Given the description of an element on the screen output the (x, y) to click on. 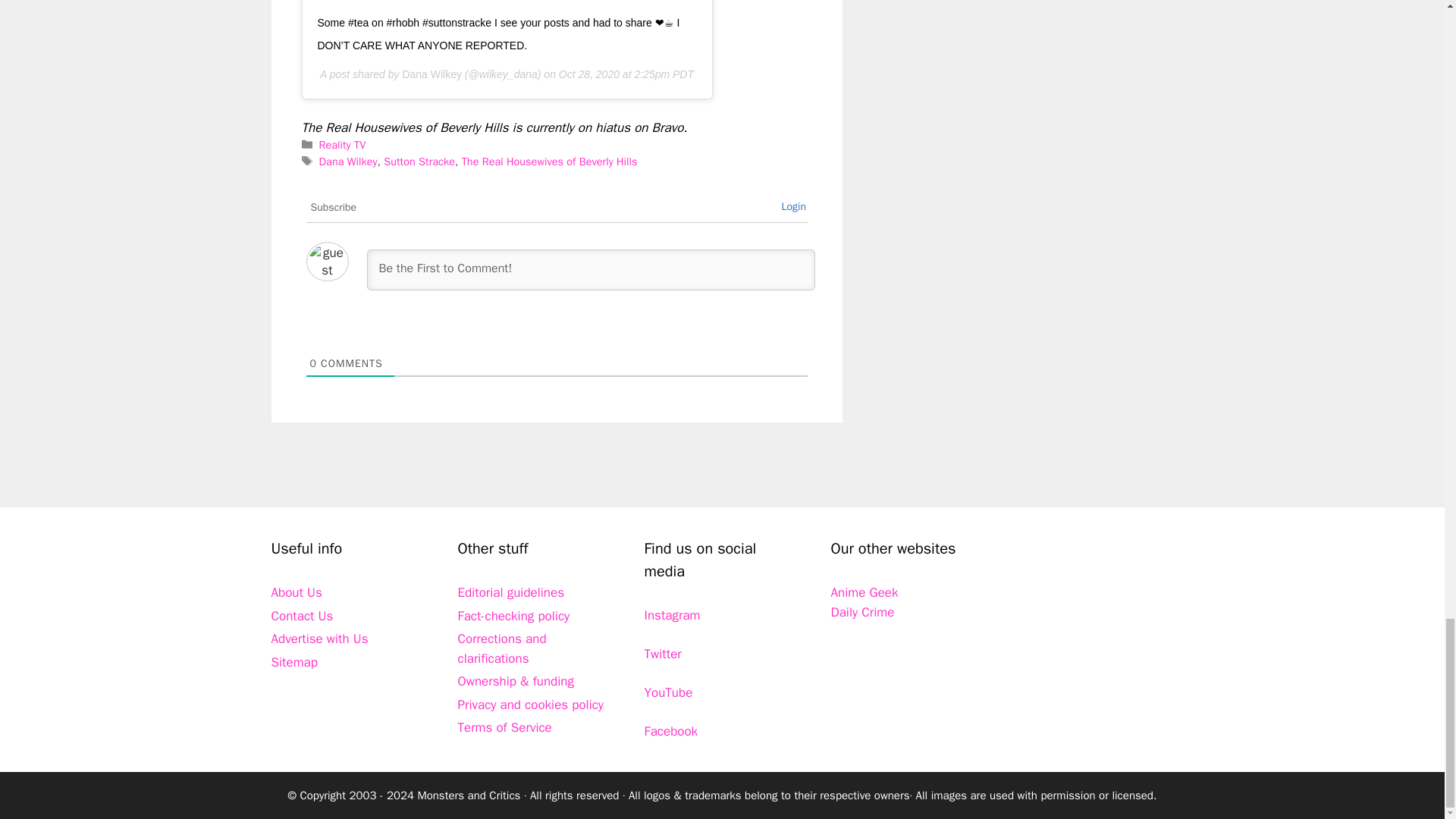
Login (793, 205)
Sutton Stracke (419, 161)
The Real Housewives of Beverly Hills (549, 161)
Privacy and cookies policy (531, 704)
Fact-checking policy (514, 616)
Instagram (672, 615)
Dana Wilkey (431, 73)
Terms of Service (504, 727)
Advertise with Us (319, 638)
Dana Wilkey (347, 161)
